Given the description of an element on the screen output the (x, y) to click on. 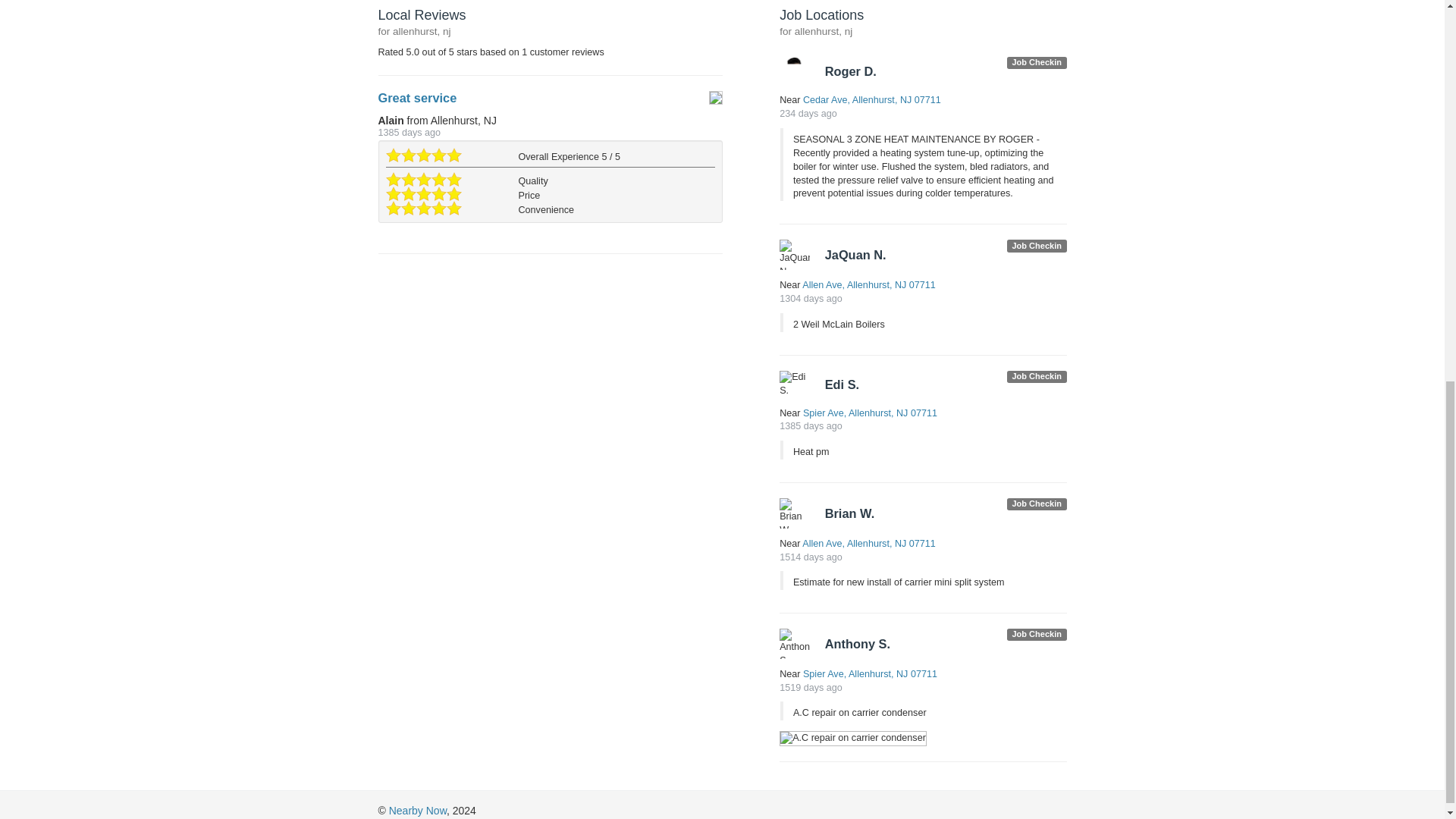
Anthony S. (793, 643)
A.C repair on carrier condenser (852, 738)
Brian W. (793, 512)
Edi S. (793, 384)
Roger D. (793, 70)
JaQuan N. (793, 254)
